Given the description of an element on the screen output the (x, y) to click on. 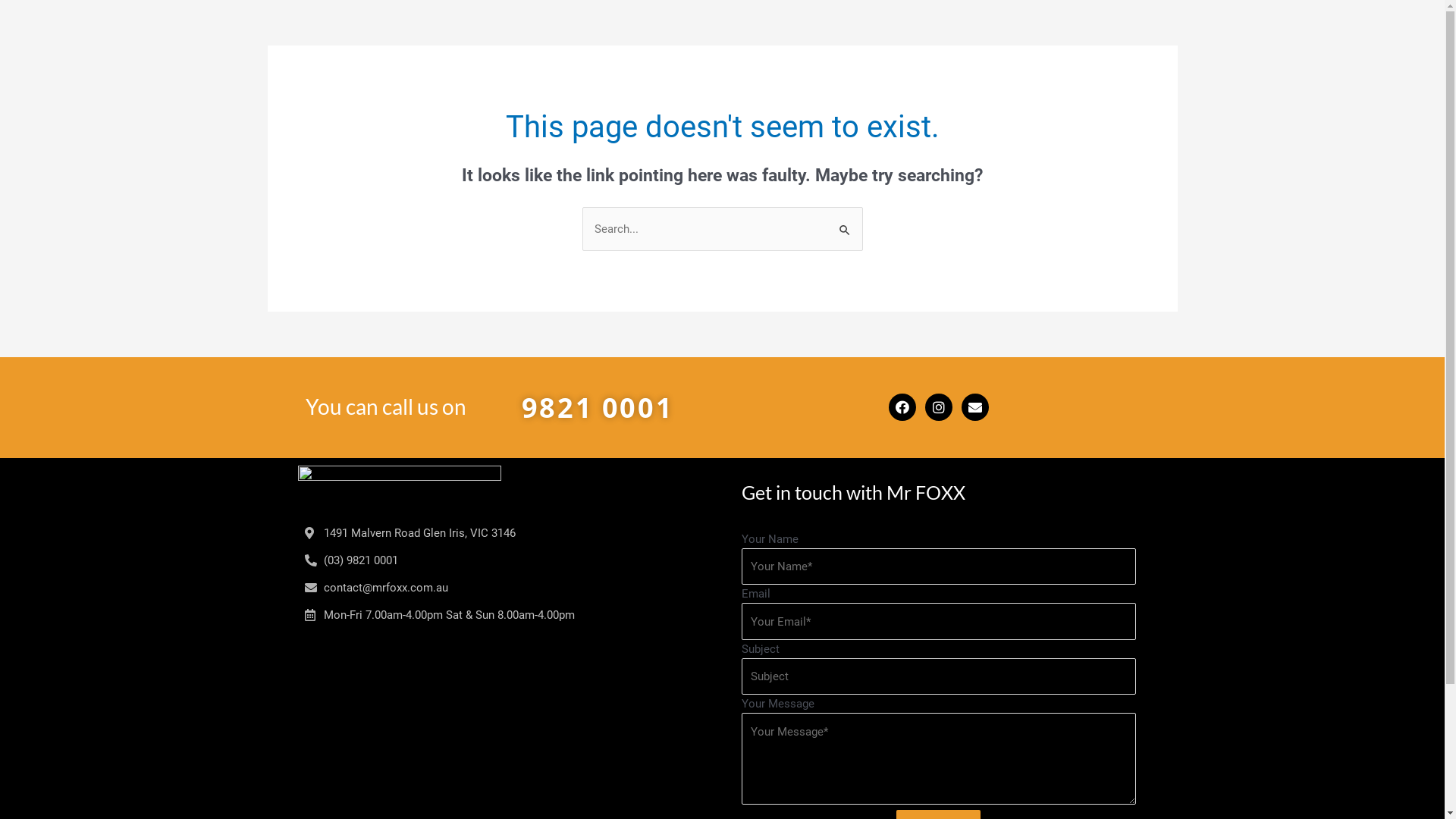
Envelope Element type: text (974, 406)
Instagram Element type: text (938, 406)
Facebook Element type: text (902, 406)
1491 Malvern Road Glen Iris, VIC 3146 Element type: hover (505, 709)
Search Element type: text (845, 222)
